Given the description of an element on the screen output the (x, y) to click on. 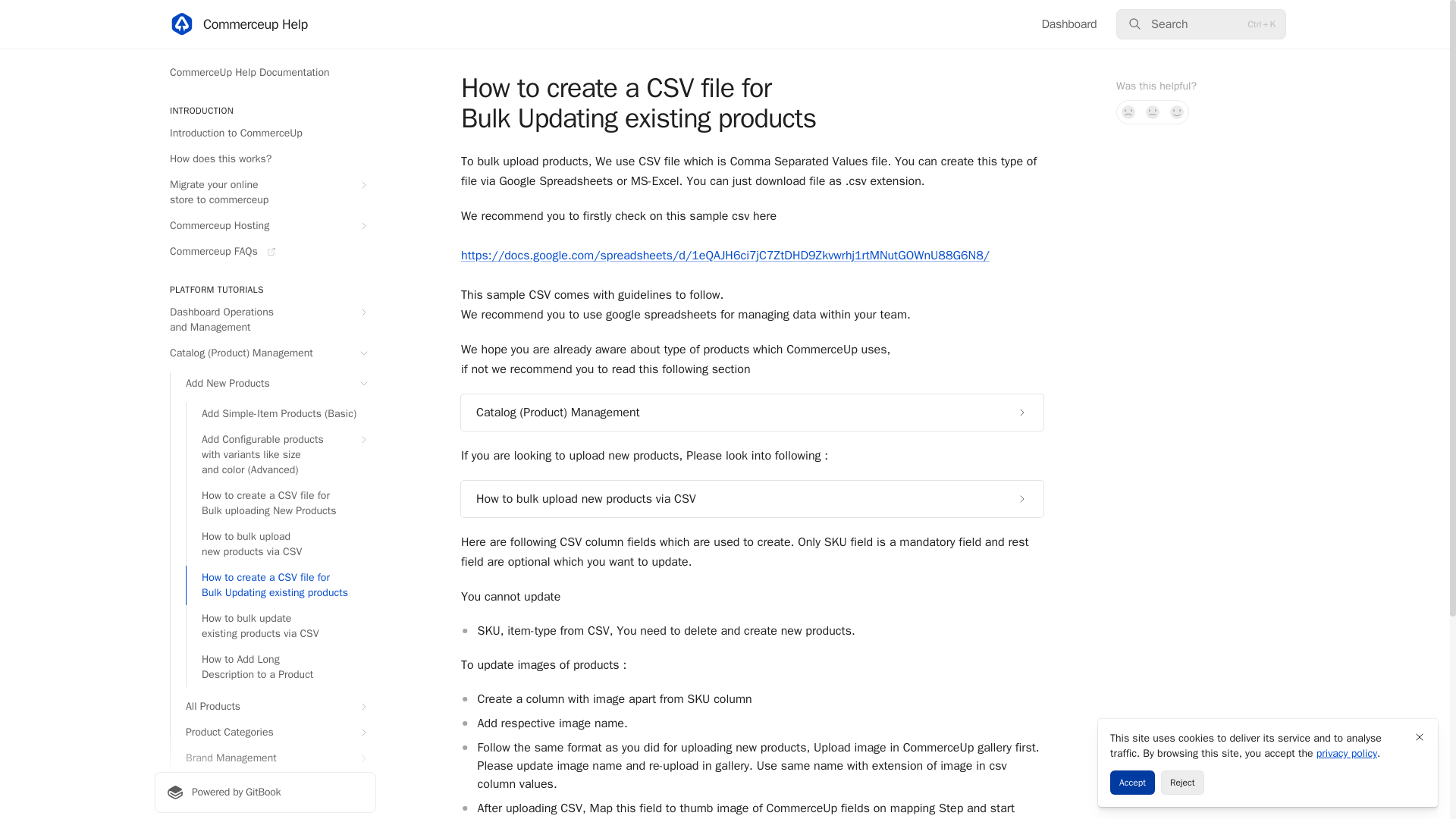
Not sure (1152, 111)
How to Add Long Description to a Product (280, 667)
Migrate your online store to commerceup (264, 192)
Dashboard Operations and Management (264, 319)
How to bulk upload new products via CSV (280, 544)
All Products (272, 706)
How does this works? (264, 159)
Dashboard (1068, 24)
Add New Products (272, 383)
CommerceUp Help Documentation (264, 72)
How to create a CSV file for Bulk Updating existing products (280, 585)
Product Categories (272, 732)
Commerceup Hosting (264, 225)
Close (1419, 737)
How to bulk update existing products via CSV (280, 626)
